Given the description of an element on the screen output the (x, y) to click on. 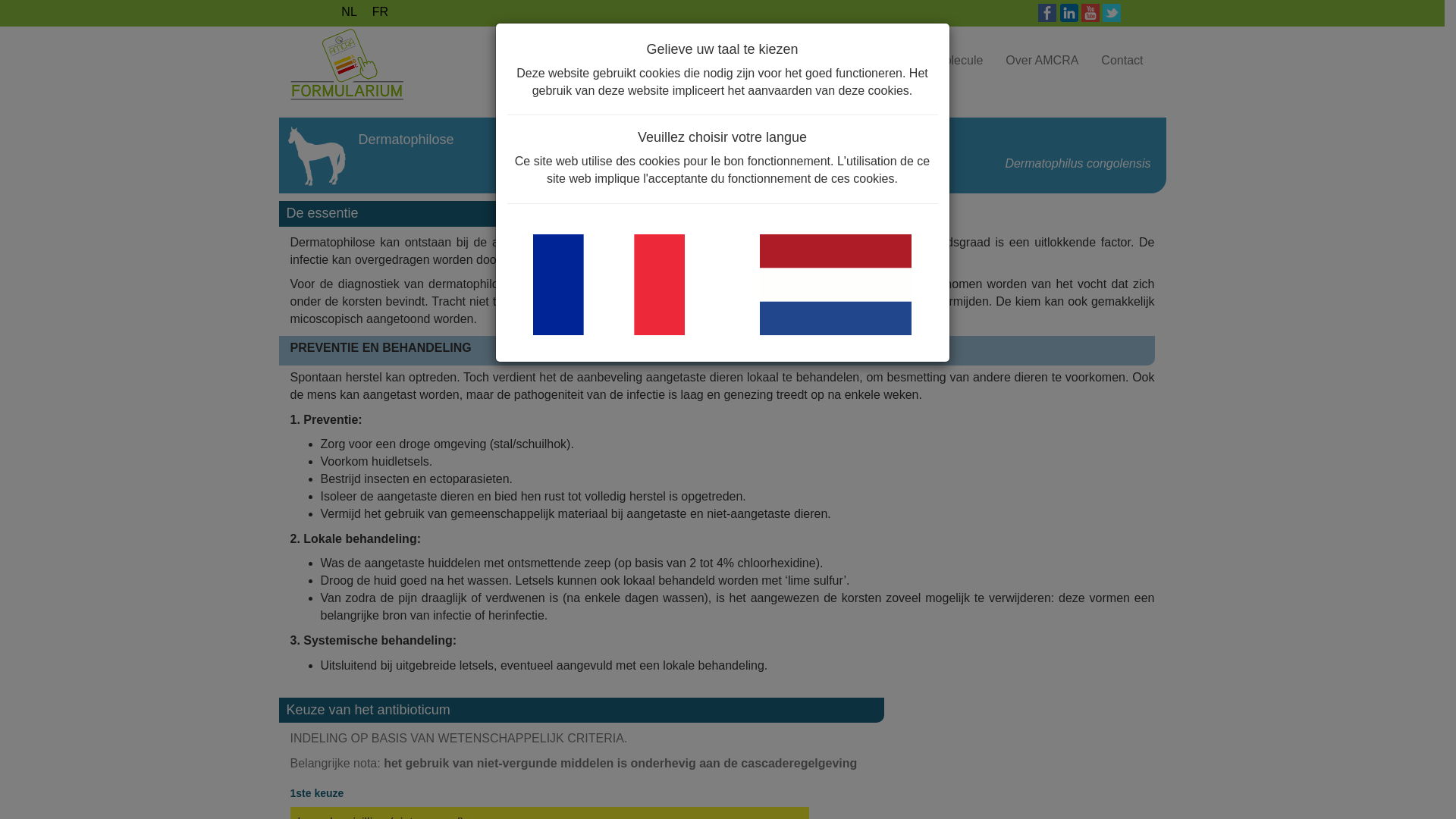
FR Element type: text (380, 11)
Contact Element type: text (1121, 60)
Zoek molecule Element type: text (943, 60)
Over AMCRA Element type: text (1041, 60)
NL Element type: text (348, 11)
Stapsgewijze keuze Element type: text (696, 60)
Antibioticaklassen Element type: text (827, 60)
